Given the description of an element on the screen output the (x, y) to click on. 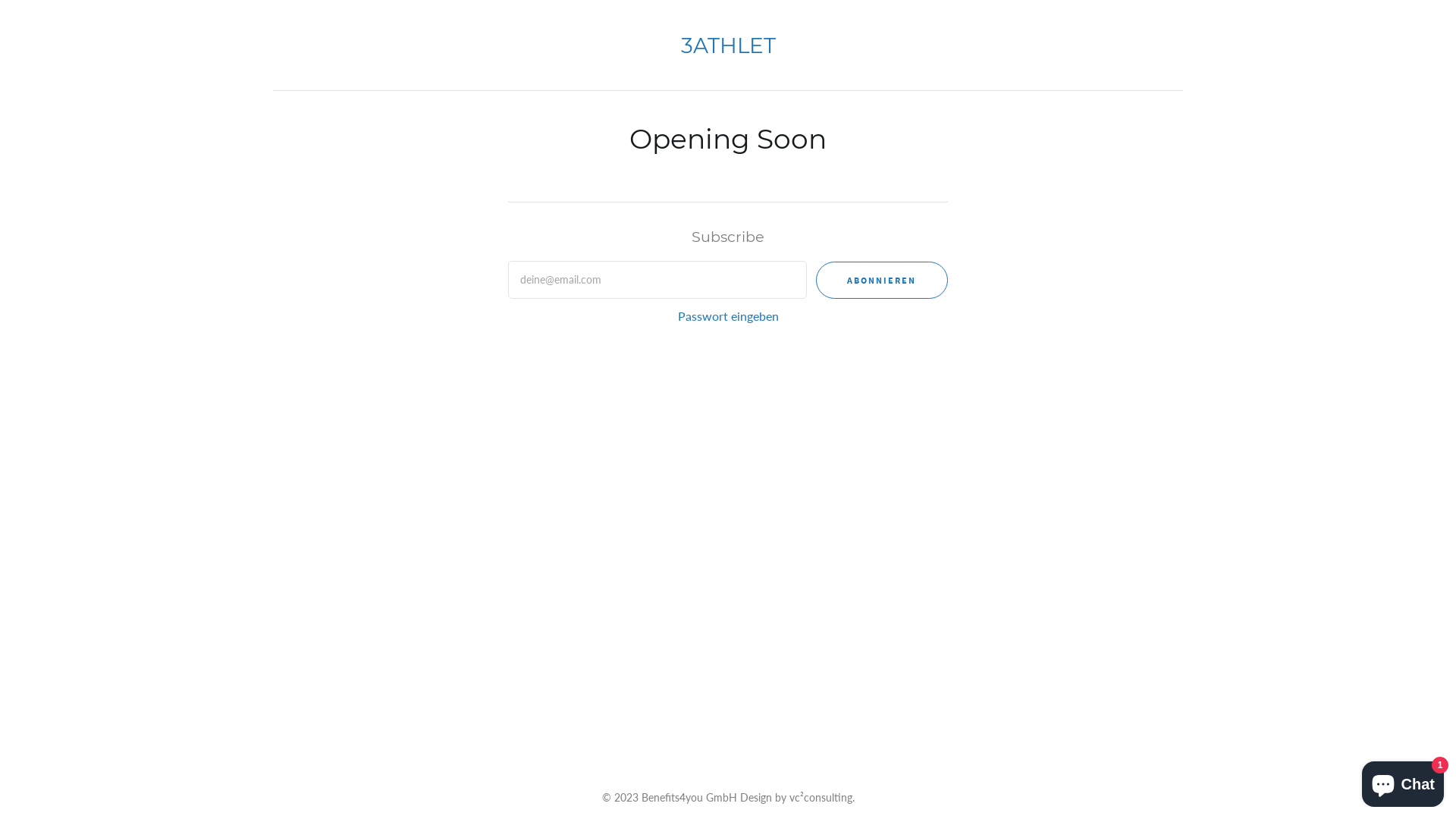
3ATHLET Element type: text (727, 47)
Onlineshop-Chat von Shopify Element type: hover (1402, 780)
Abonnieren Element type: text (881, 279)
Passwort eingeben Element type: text (727, 316)
